Given the description of an element on the screen output the (x, y) to click on. 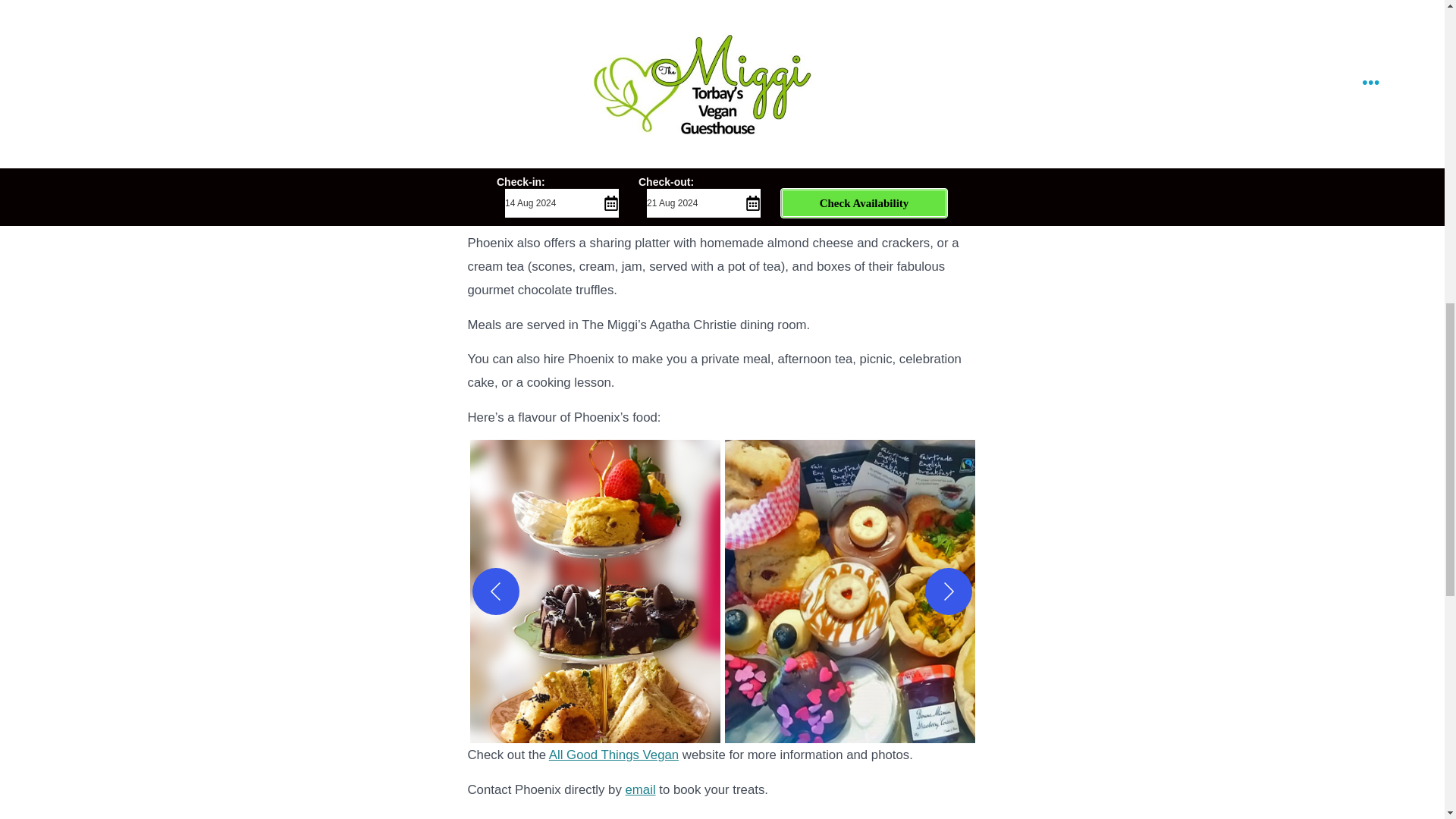
email (641, 789)
All Good Things Vegan (613, 754)
